Given the description of an element on the screen output the (x, y) to click on. 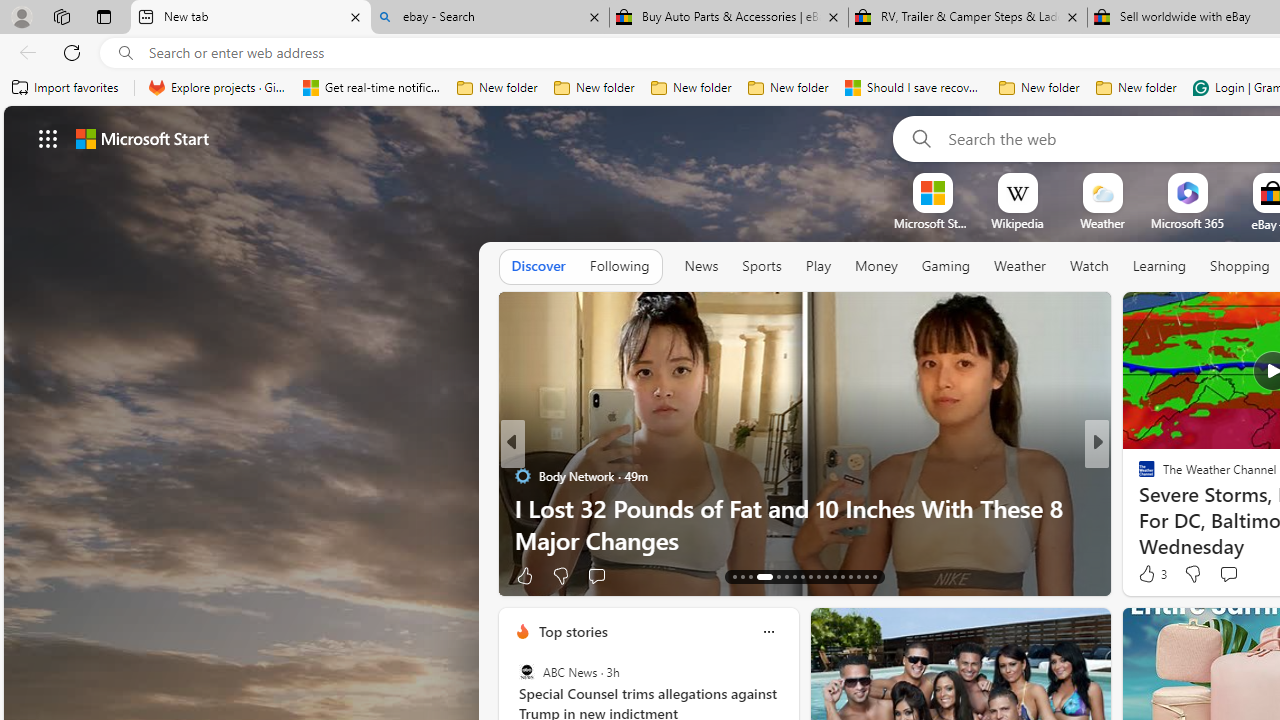
Learning (1159, 265)
AutomationID: tab-24 (833, 576)
AutomationID: tab-16 (757, 576)
Ad Choice (479, 575)
AutomationID: tab-27 (857, 576)
MUO (1138, 507)
ebay - Search (490, 17)
Microsoft start (142, 138)
The Independent (522, 475)
